Given the description of an element on the screen output the (x, y) to click on. 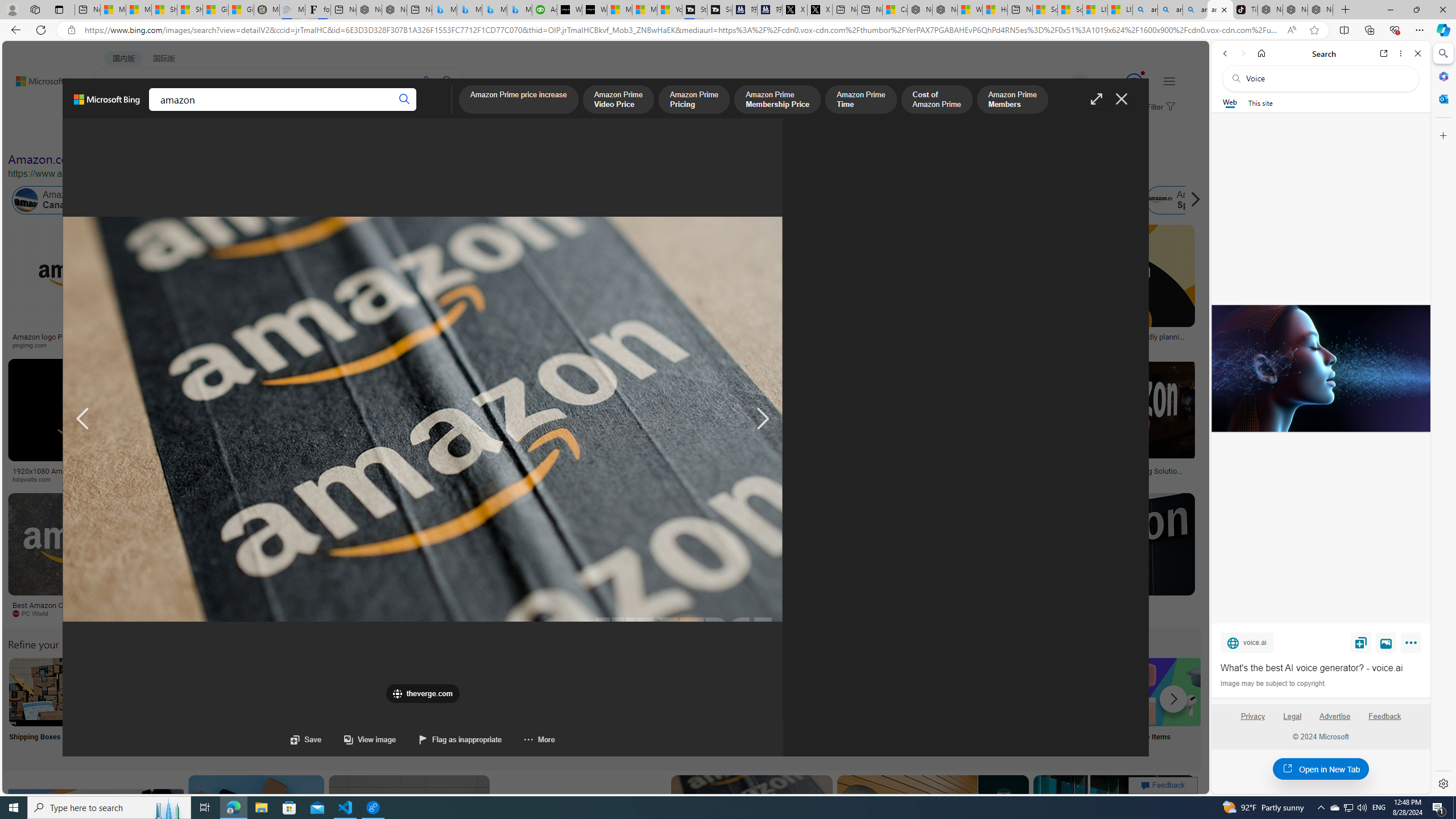
Nordace - Summer Adventures 2024 (944, 9)
Filter (1158, 107)
Amazon Shoes (1079, 200)
mobilemarketingmagazine.com (1099, 479)
TikTok (1244, 9)
hdqwalls.com (96, 479)
What's the best AI voice generator? - voice.ai (1320, 667)
Amazon Clip Art (192, 691)
Amazon Online Shopping Search (118, 691)
Amazon Online Store Online Store (644, 706)
